Given the description of an element on the screen output the (x, y) to click on. 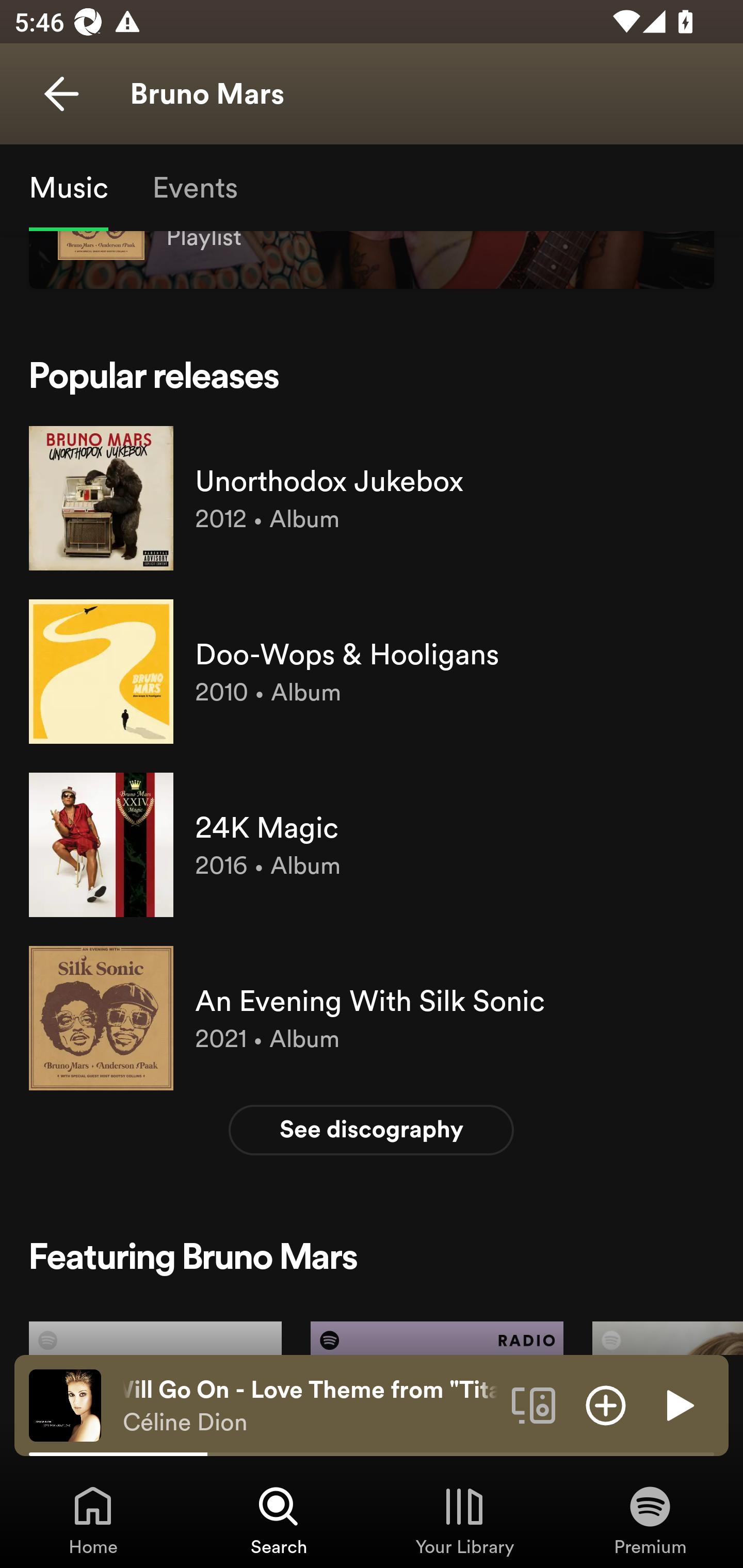
Back (60, 93)
Events (194, 187)
Unorthodox Jukebox 2012 • Album (371, 497)
Doo-Wops & Hooligans 2010 • Album (371, 671)
24K Magic 2016 • Album (371, 844)
An Evening With Silk Sonic 2021 • Album (371, 1018)
See discography (371, 1130)
The cover art of the currently playing track (64, 1404)
Connect to a device. Opens the devices menu (533, 1404)
Add item (605, 1404)
Play (677, 1404)
Home, Tab 1 of 4 Home Home (92, 1519)
Search, Tab 2 of 4 Search Search (278, 1519)
Your Library, Tab 3 of 4 Your Library Your Library (464, 1519)
Premium, Tab 4 of 4 Premium Premium (650, 1519)
